Given the description of an element on the screen output the (x, y) to click on. 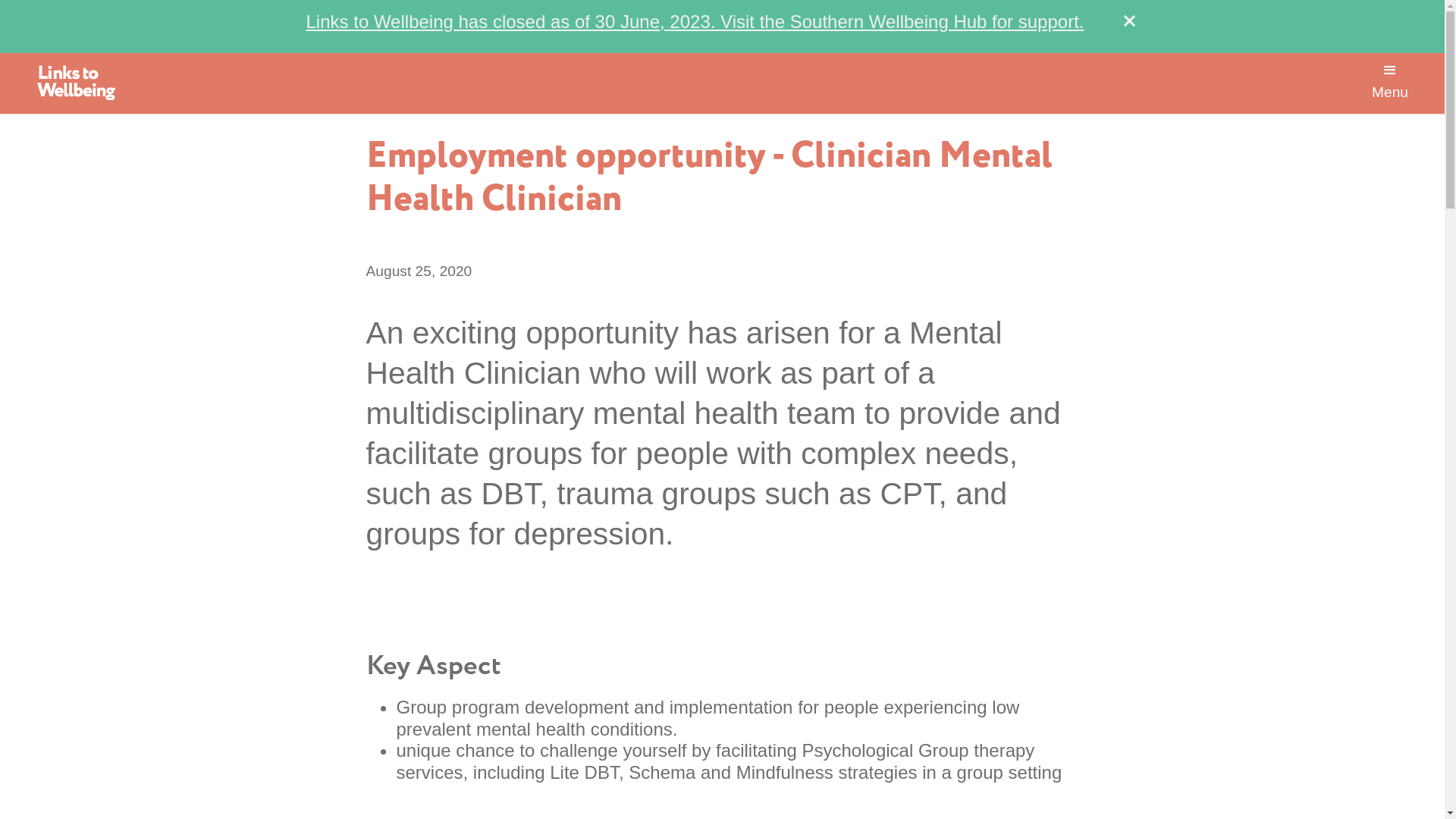
Go to the Home page Element type: hover (76, 83)
News Element type: text (388, 30)
close Element type: text (1129, 21)
Menu Element type: text (1389, 73)
